Given the description of an element on the screen output the (x, y) to click on. 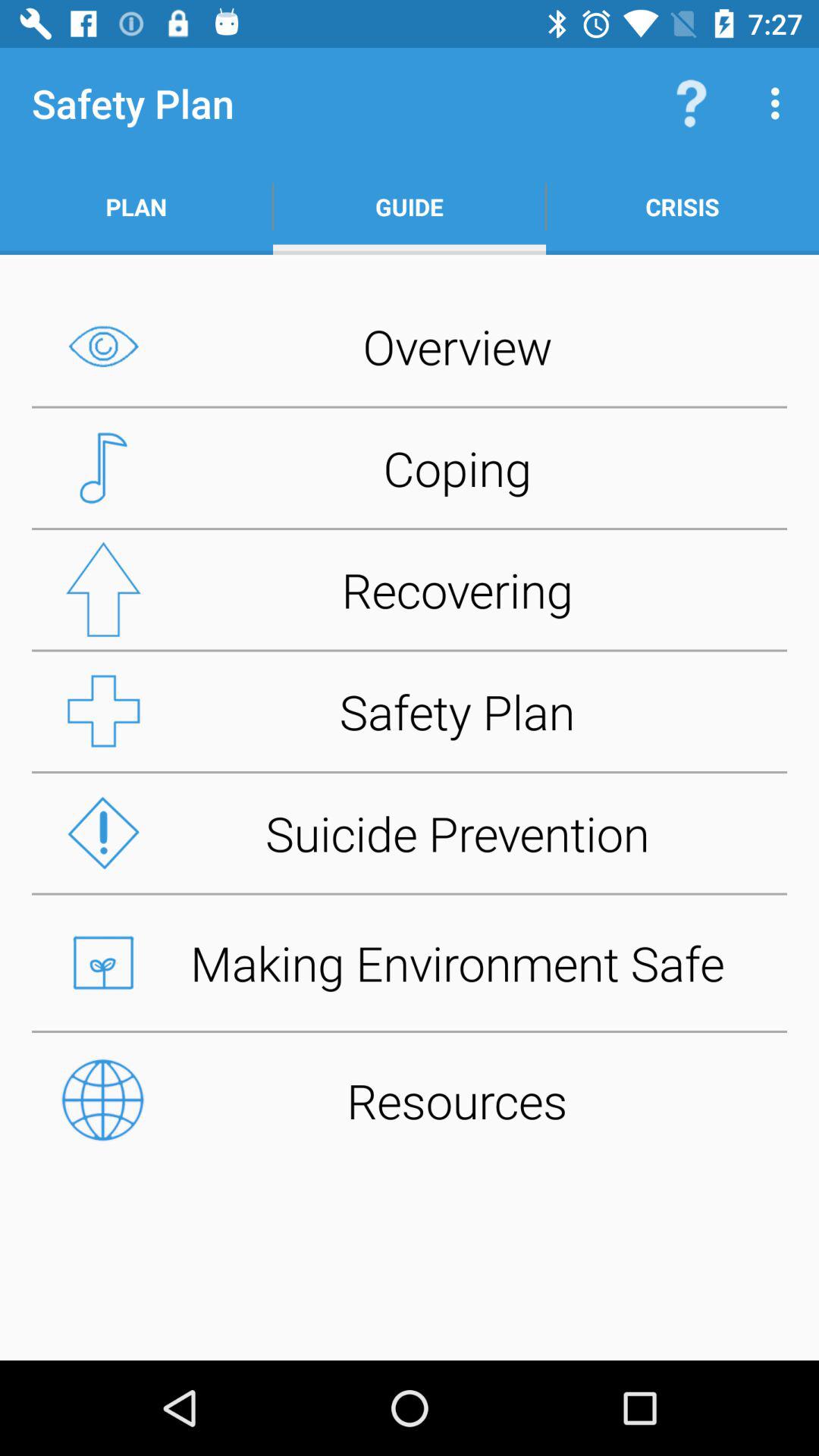
click the recovering icon (409, 589)
